Given the description of an element on the screen output the (x, y) to click on. 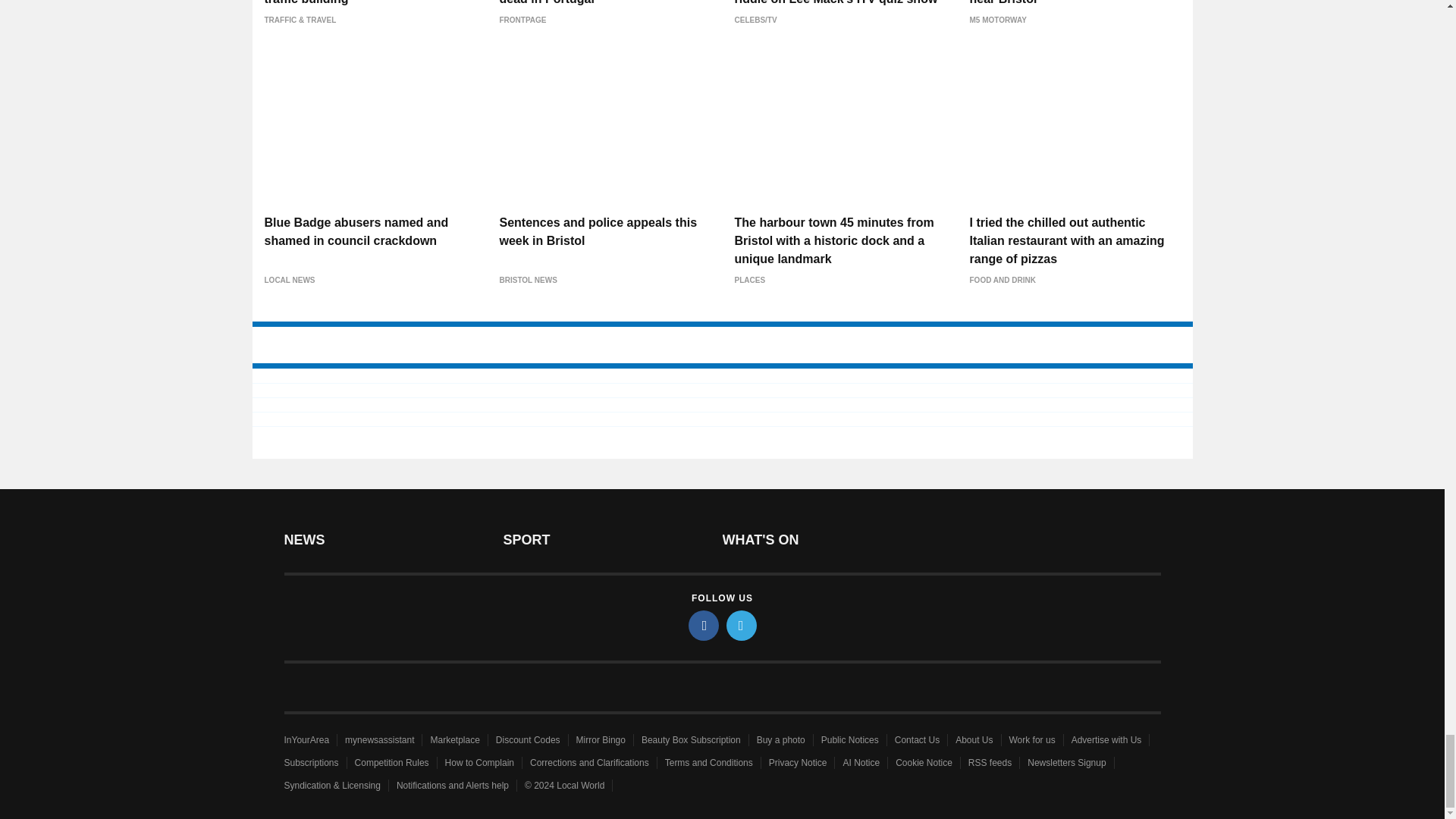
facebook (703, 625)
twitter (741, 625)
